Given the description of an element on the screen output the (x, y) to click on. 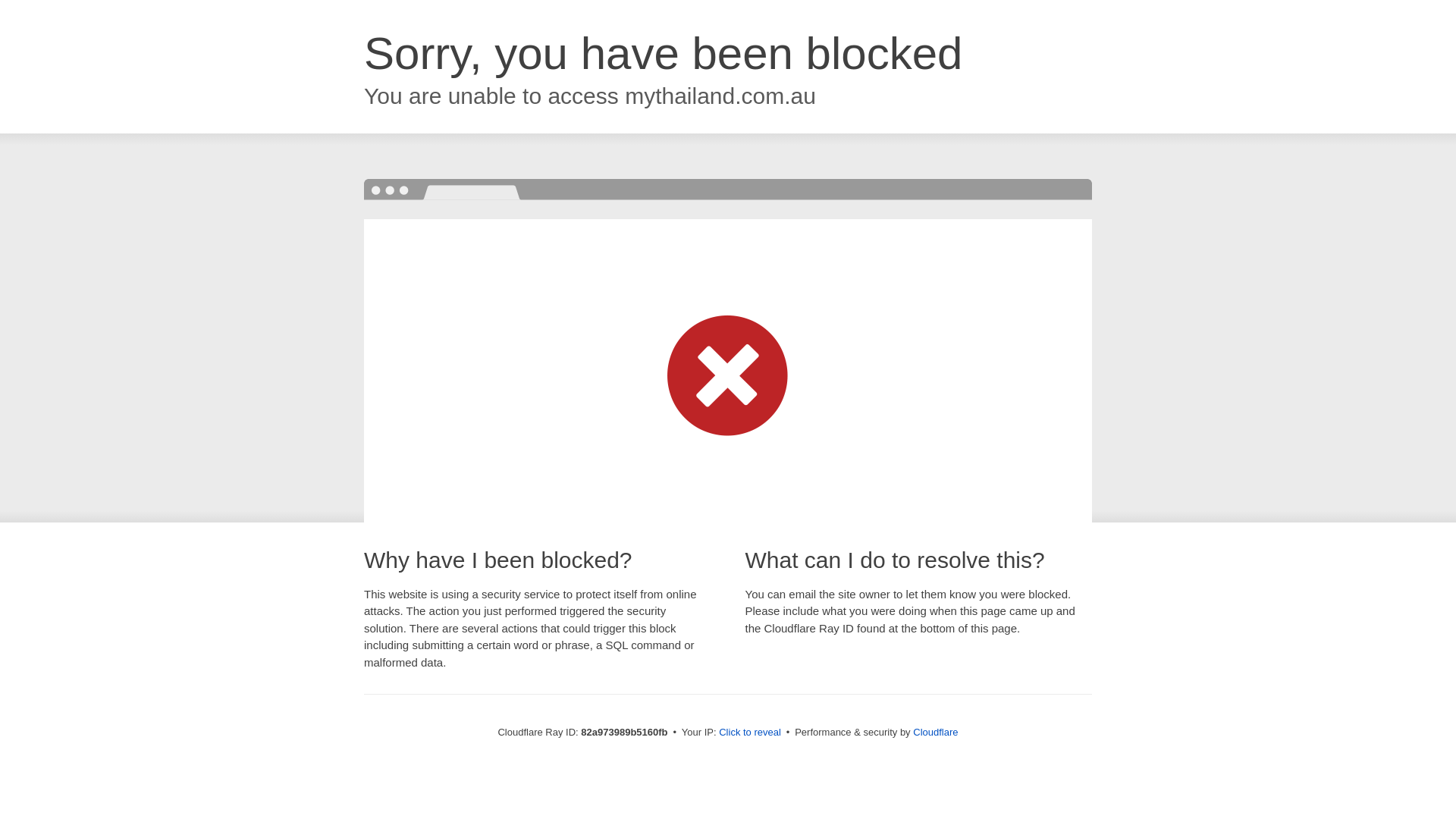
Click to reveal Element type: text (749, 732)
Cloudflare Element type: text (935, 731)
